Given the description of an element on the screen output the (x, y) to click on. 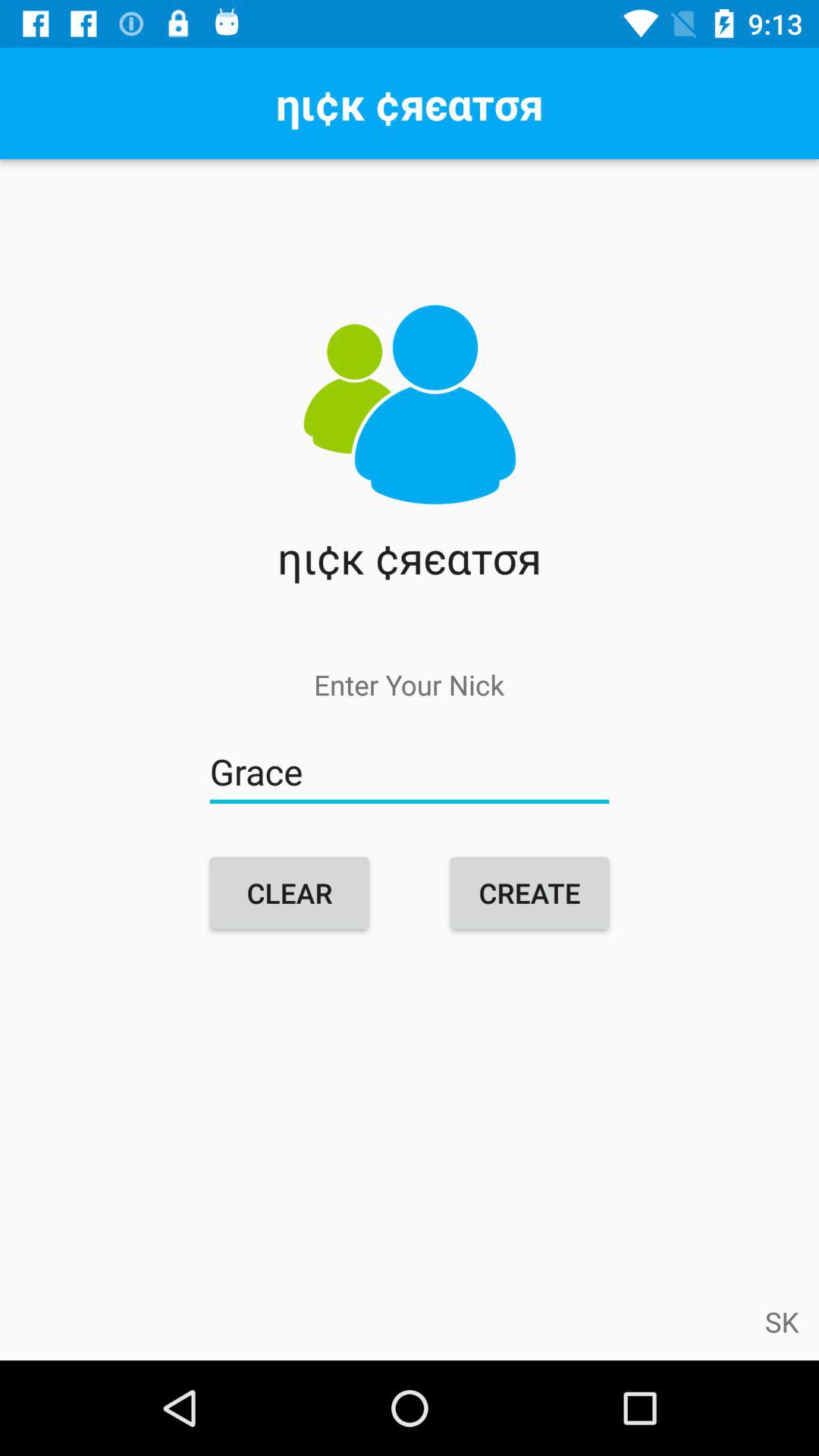
turn on item below grace (529, 892)
